Given the description of an element on the screen output the (x, y) to click on. 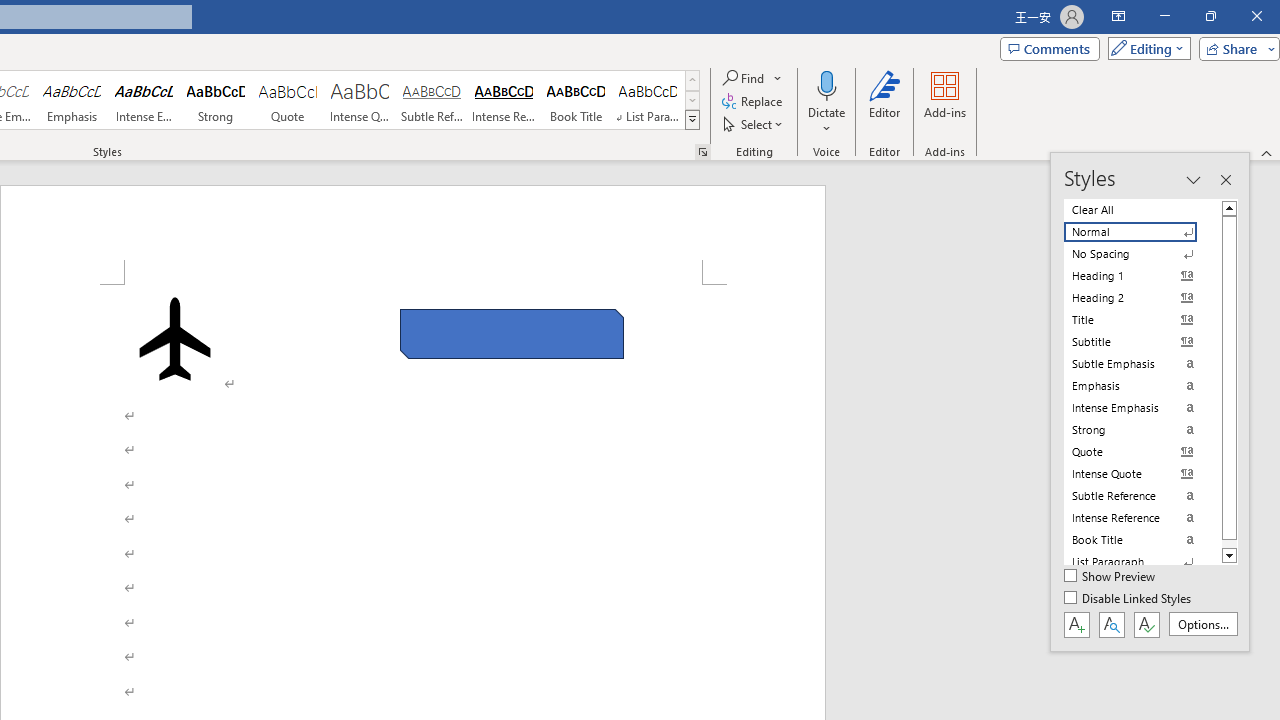
Find (744, 78)
Normal (1142, 232)
Book Title (575, 100)
Dictate (826, 102)
Strong (216, 100)
